Given the description of an element on the screen output the (x, y) to click on. 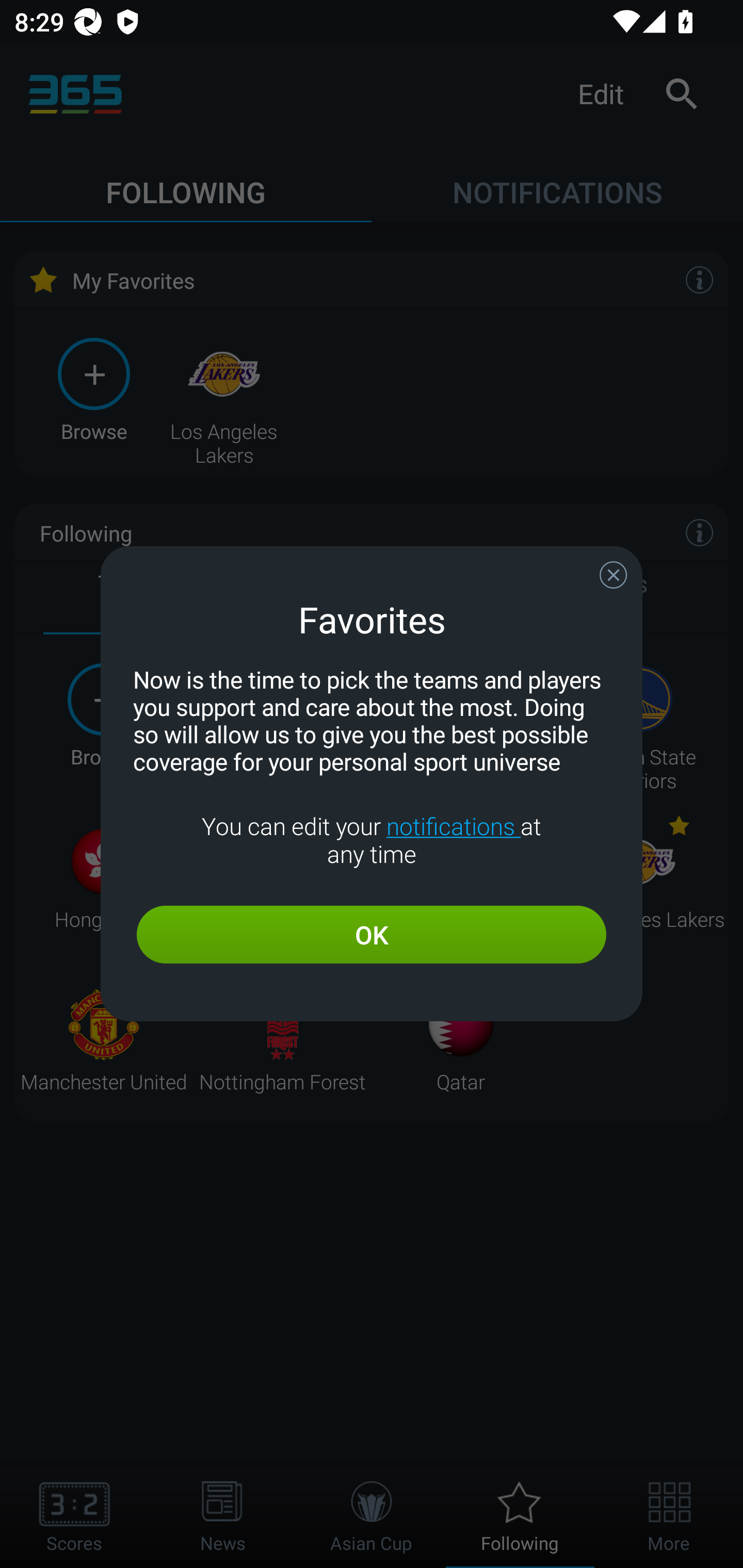
You can edit your notifications at any time (371, 839)
OK (371, 934)
